Given the description of an element on the screen output the (x, y) to click on. 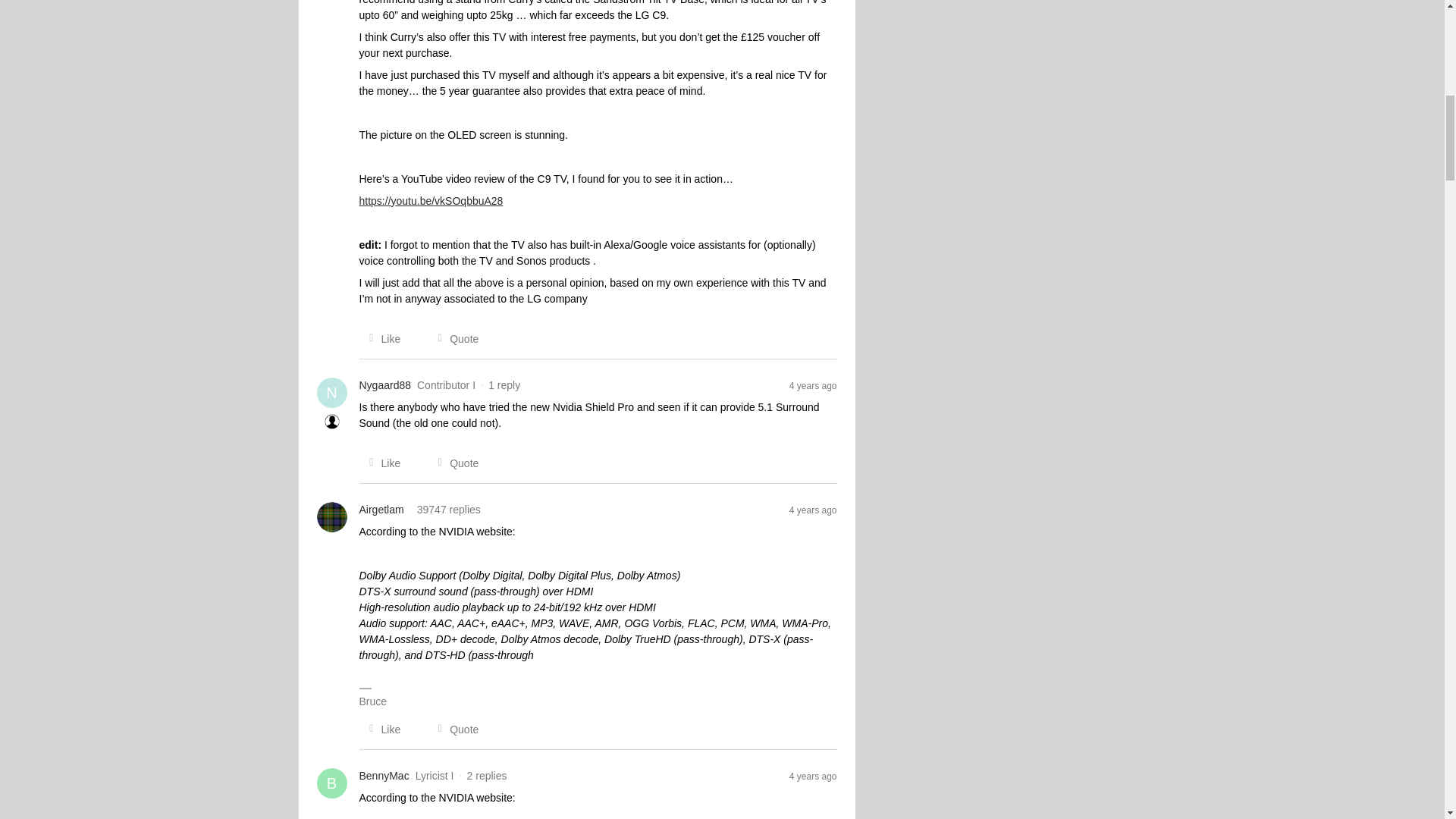
Meet and greet (331, 421)
BennyMac (384, 775)
Airgetlam (381, 509)
Nygaard88 (385, 385)
